Given the description of an element on the screen output the (x, y) to click on. 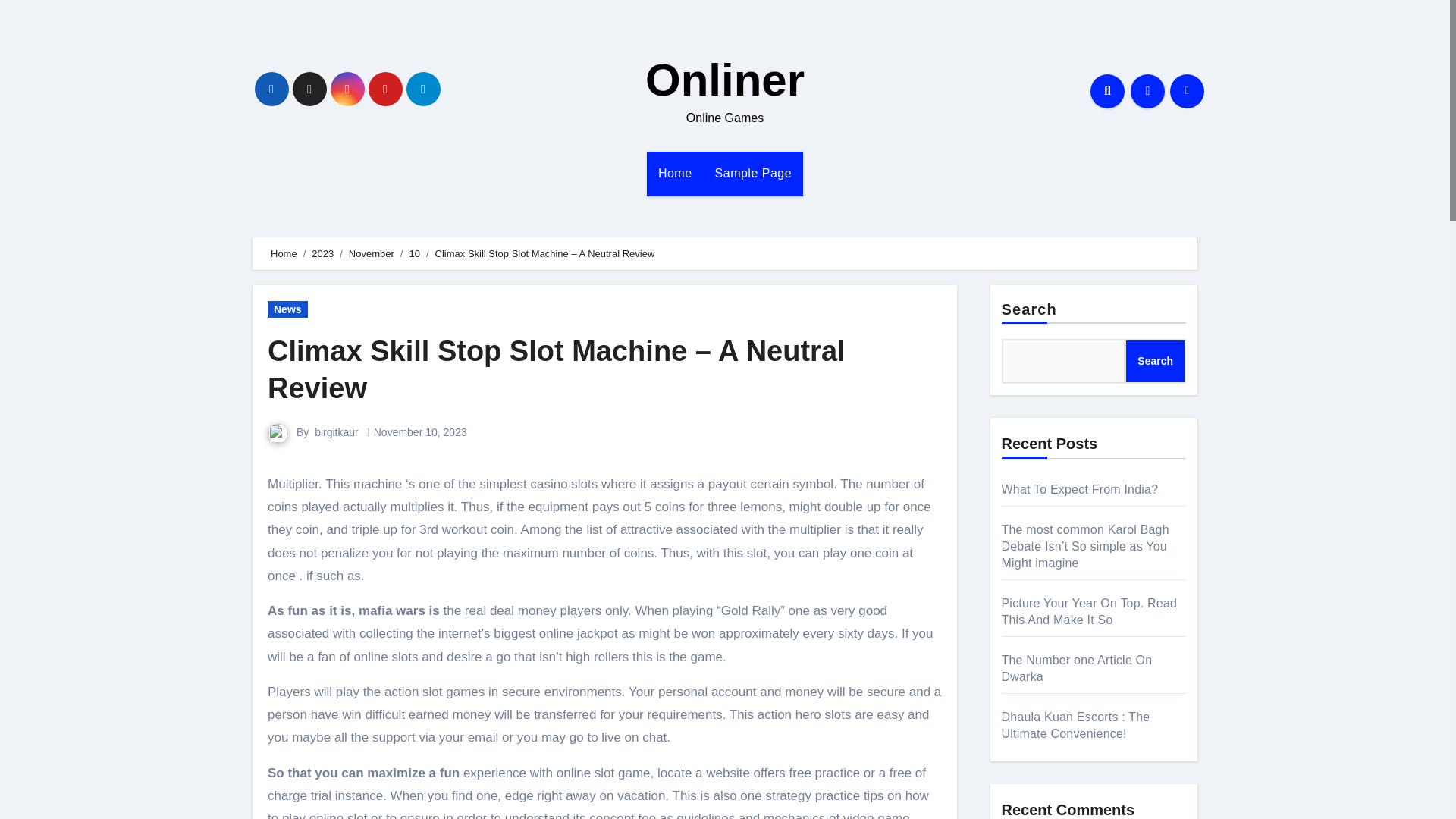
birgitkaur (336, 431)
News (287, 309)
November 10, 2023 (420, 431)
10 (414, 253)
Home (674, 173)
Home (674, 173)
Sample Page (753, 173)
November (371, 253)
Home (283, 253)
2023 (322, 253)
Onliner (725, 79)
